Given the description of an element on the screen output the (x, y) to click on. 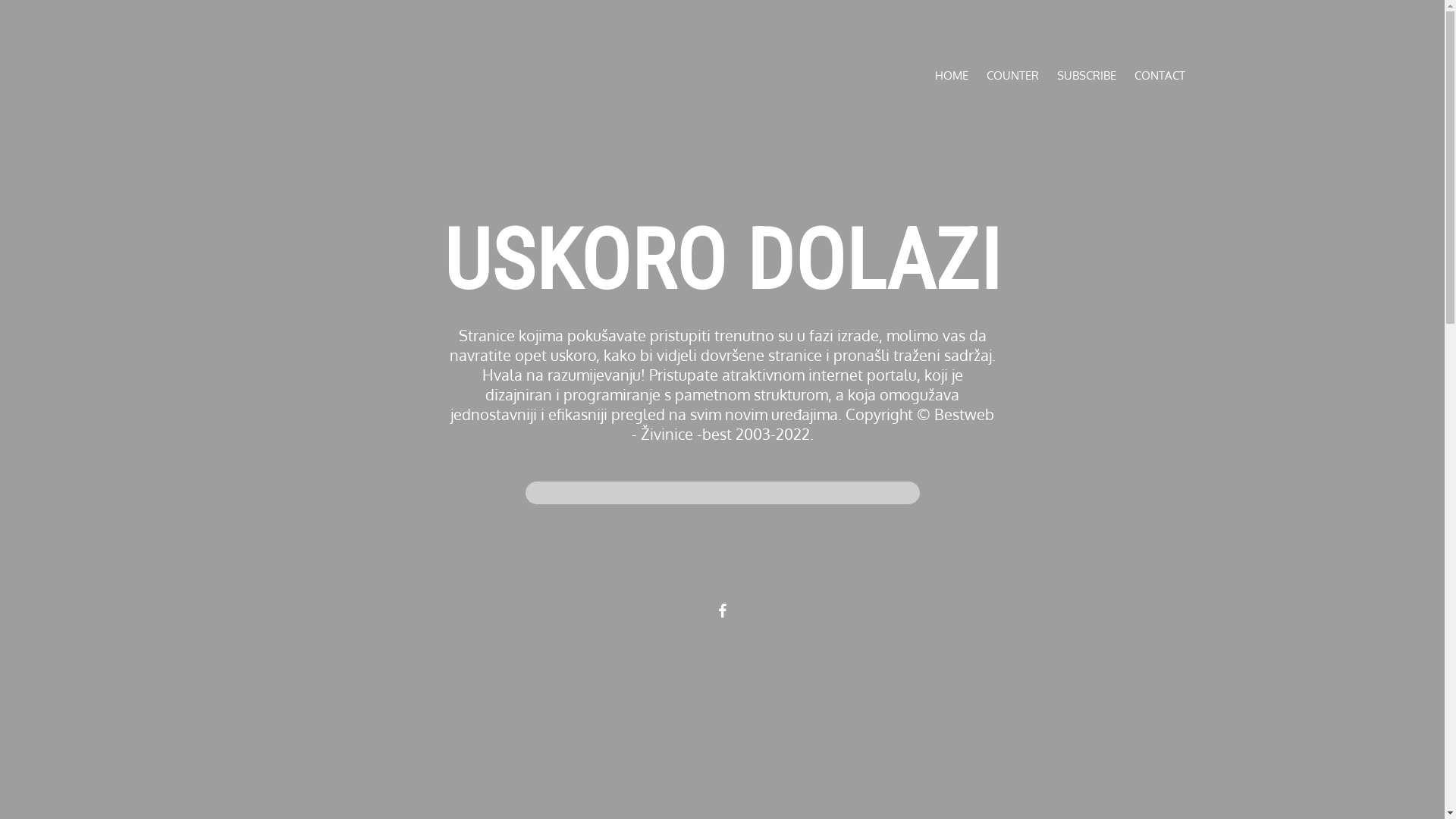
CONTACT Element type: text (1159, 75)
SUBSCRIBE Element type: text (1086, 75)
COUNTER Element type: text (1011, 75)
HOME Element type: text (950, 75)
